Given the description of an element on the screen output the (x, y) to click on. 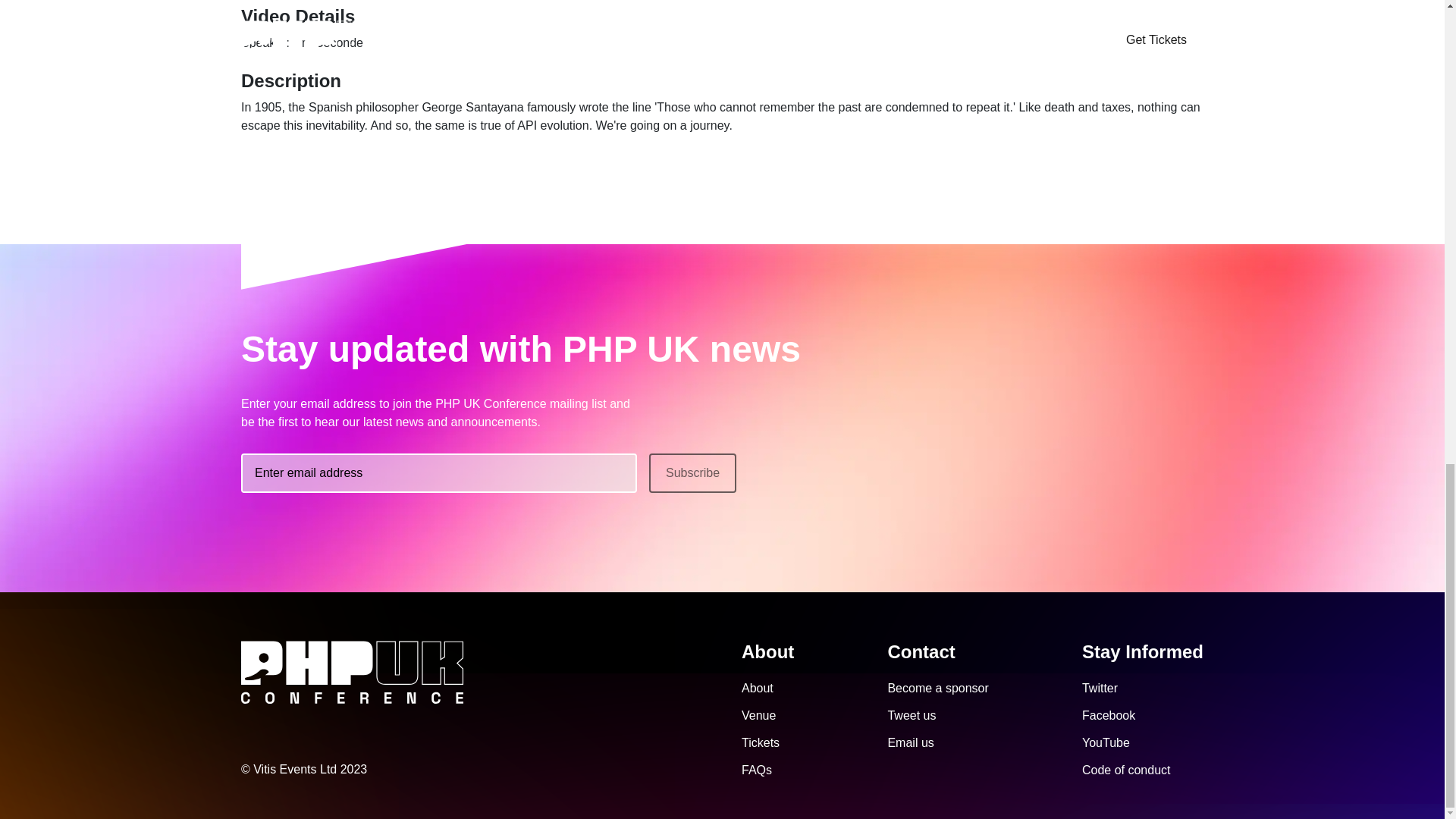
YouTube (1105, 742)
Email us (909, 742)
FAQs (756, 769)
Facebook (1108, 715)
Twitter (1099, 687)
Tweet us (911, 715)
Tickets (759, 742)
Become a sponsor (937, 687)
Subscribe (692, 473)
About (757, 687)
